Given the description of an element on the screen output the (x, y) to click on. 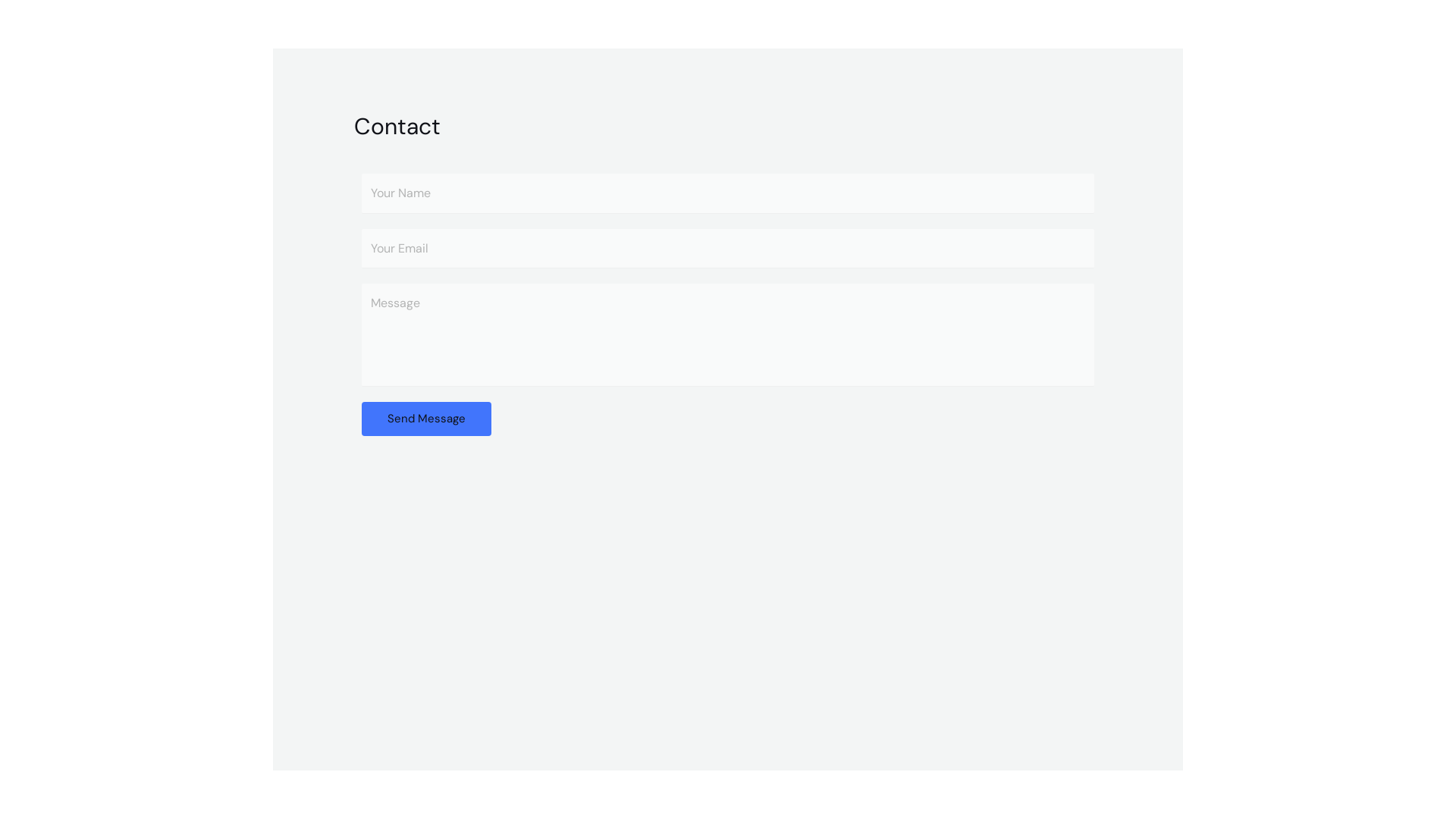
rue de la paix 6 Element type: hover (728, 584)
Send Message Element type: text (426, 418)
